Given the description of an element on the screen output the (x, y) to click on. 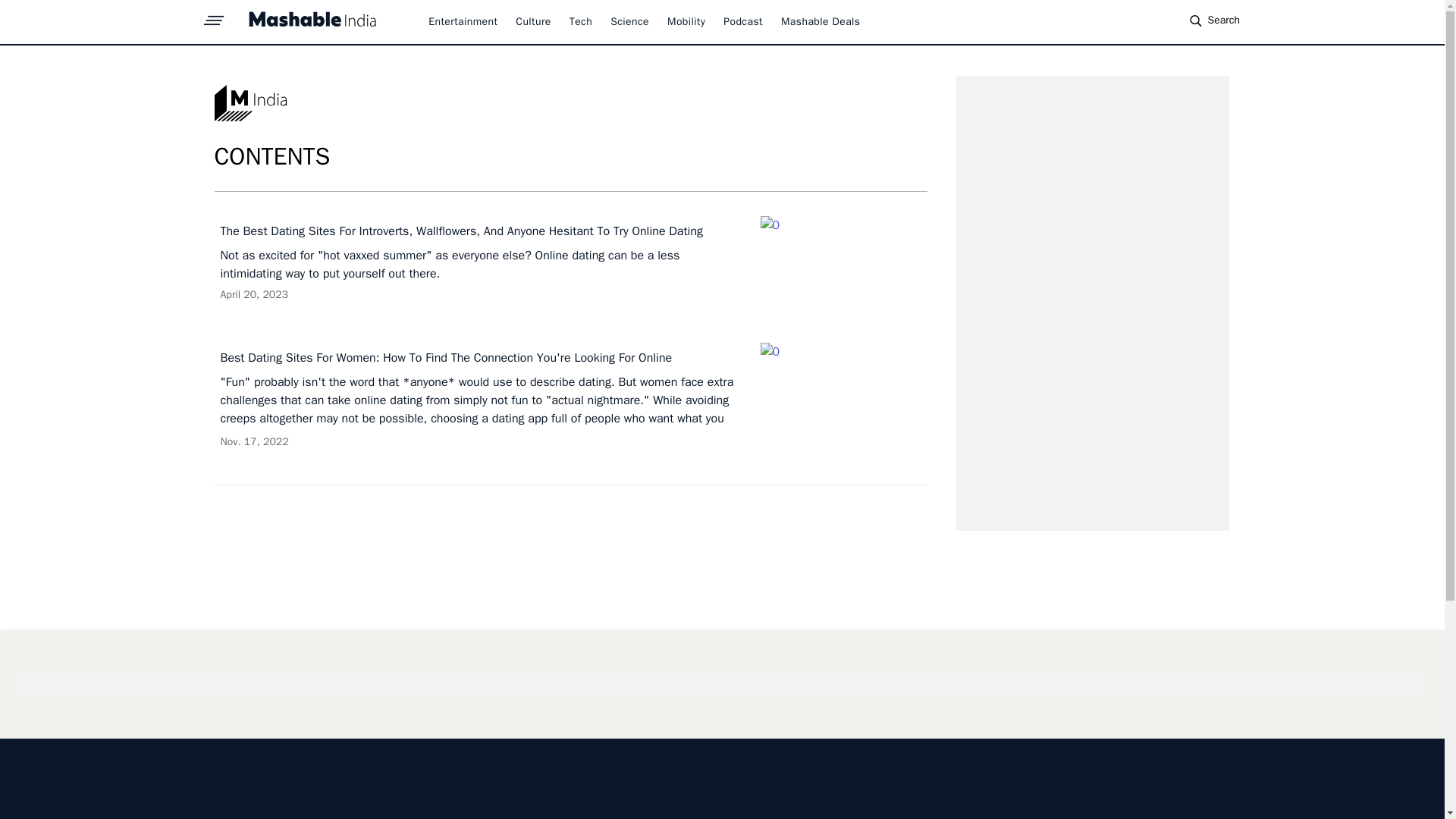
sprite-hamburger (213, 16)
Mobility (685, 21)
Entertainment (462, 21)
Tech (580, 21)
Podcast (742, 21)
Science (629, 21)
Culture (532, 21)
Mashable Deals (820, 21)
